Given the description of an element on the screen output the (x, y) to click on. 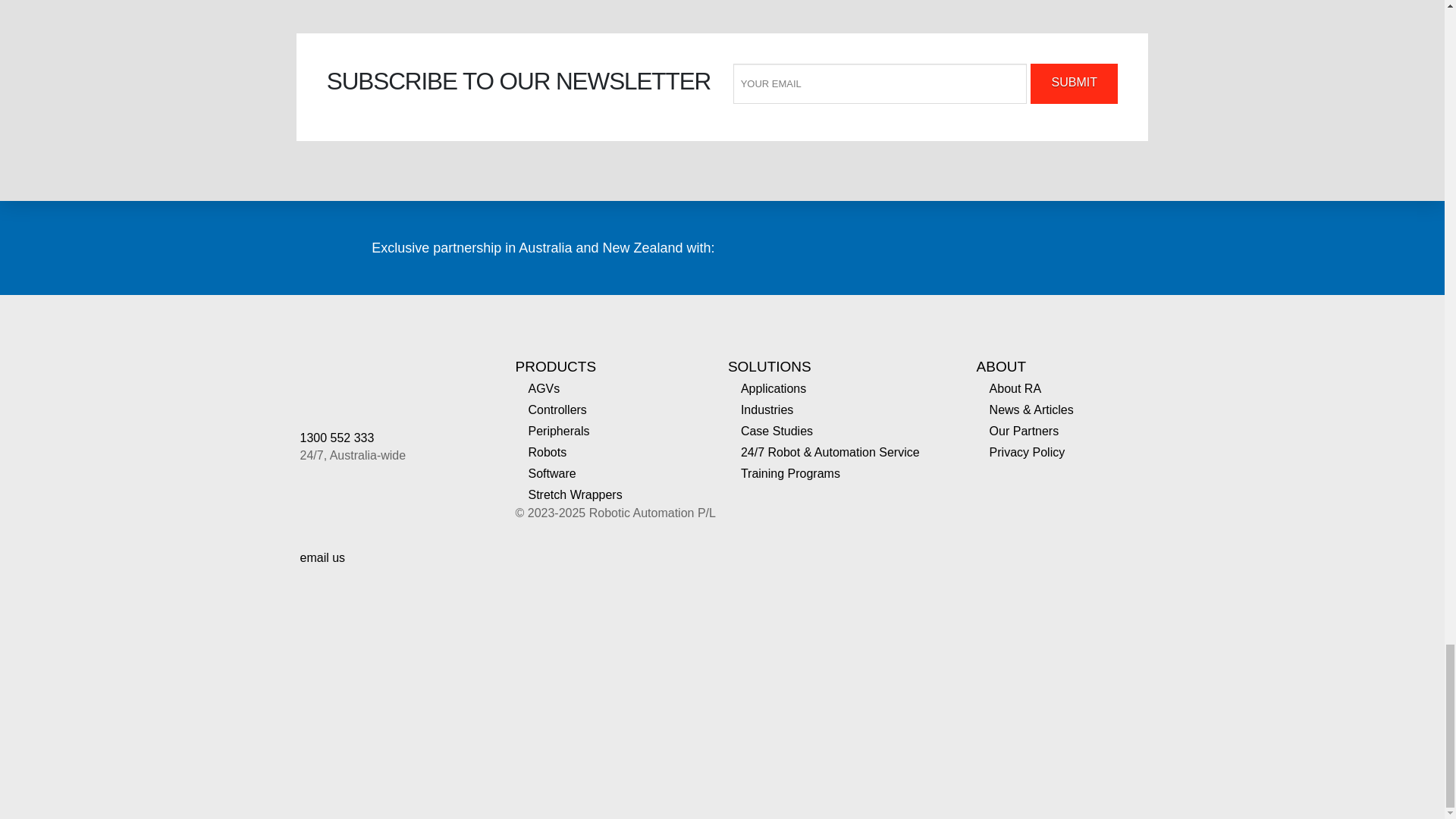
PRODUCTS (555, 366)
SUBMIT (1074, 83)
email us (322, 557)
Peripherals (558, 430)
Controllers (557, 409)
1300 552 333 (336, 437)
SUBMIT (1074, 83)
AGVs (544, 387)
